Given the description of an element on the screen output the (x, y) to click on. 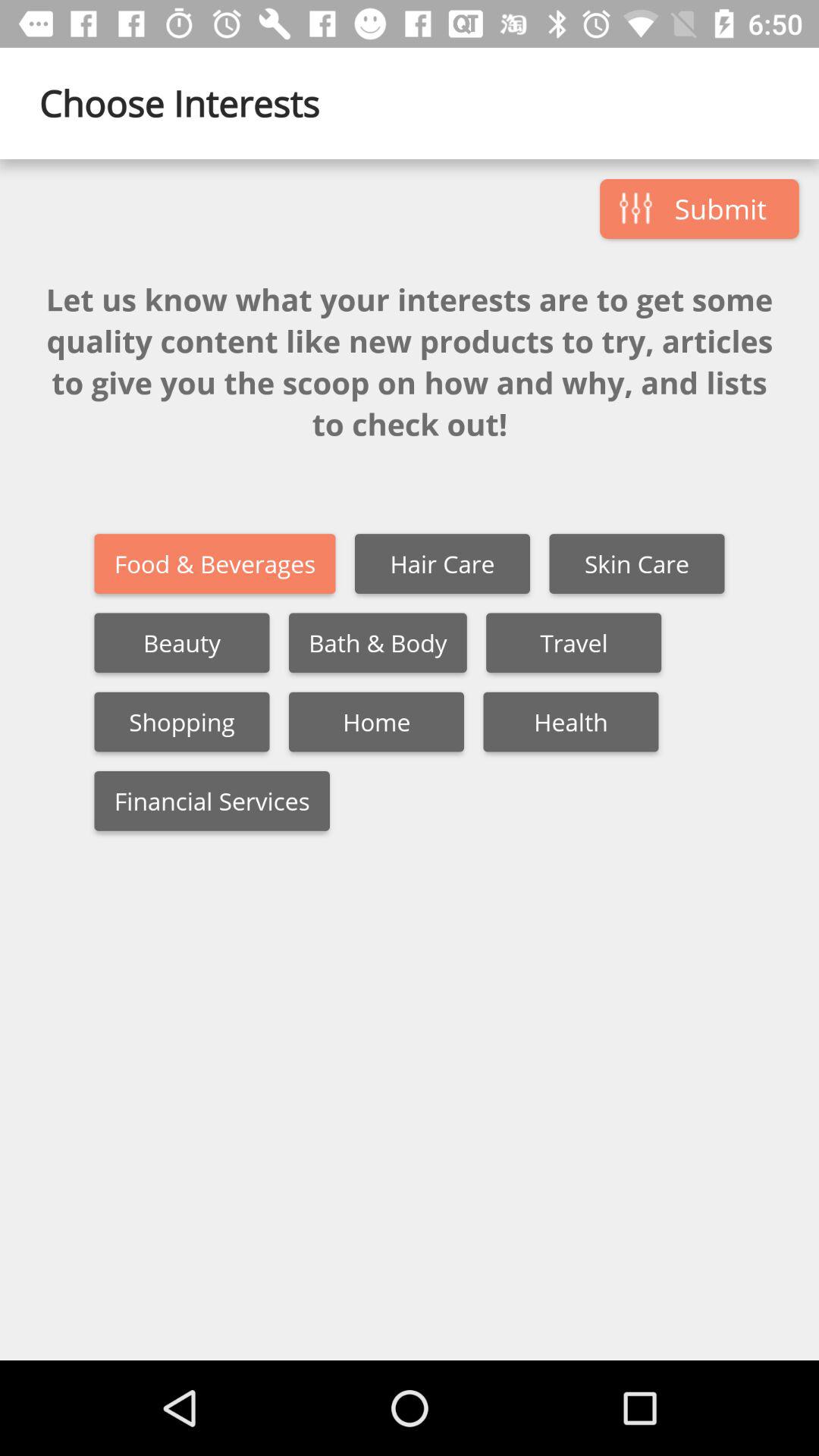
turn on icon to the left of home (181, 721)
